Given the description of an element on the screen output the (x, y) to click on. 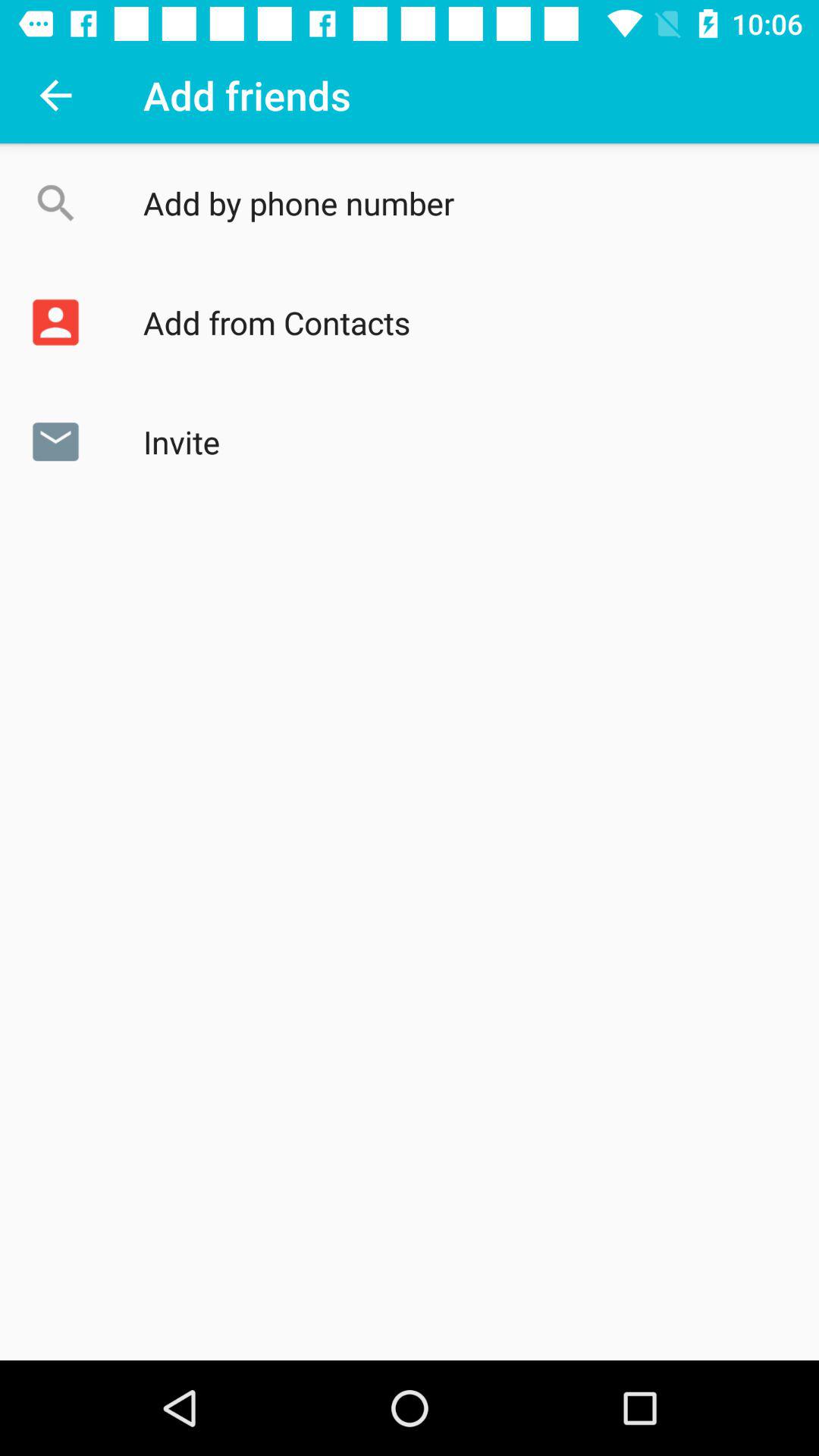
press icon to the left of add friends item (55, 95)
